Given the description of an element on the screen output the (x, y) to click on. 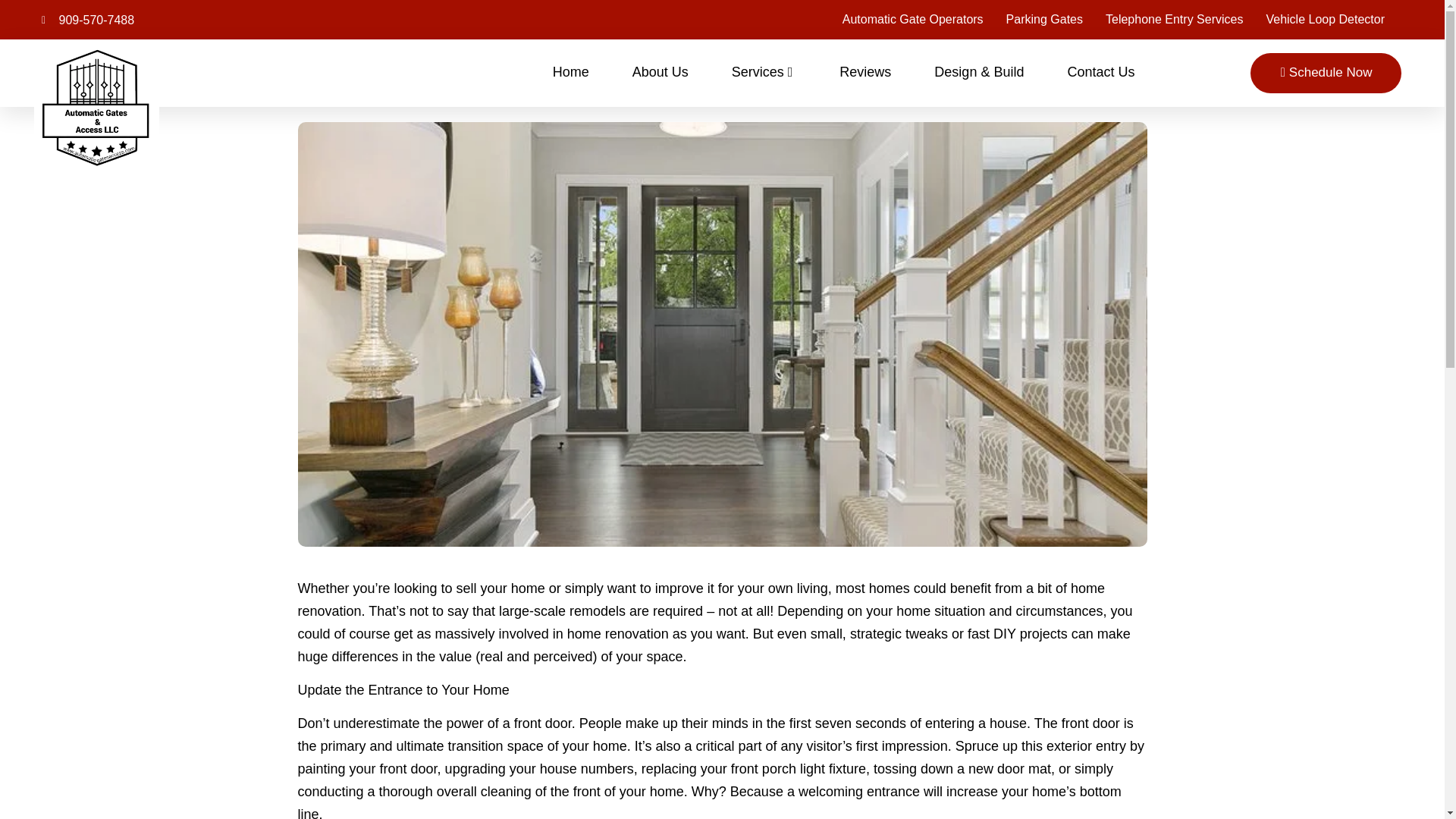
Services (764, 72)
Vehicle Loop Detector (1324, 19)
Schedule Now (1326, 73)
About Us (659, 72)
Contact Us (1100, 72)
Parking Gates (1044, 19)
Telephone Entry Services (1174, 19)
Automatic Gate Operators (913, 19)
909-570-7488 (87, 20)
